Given the description of an element on the screen output the (x, y) to click on. 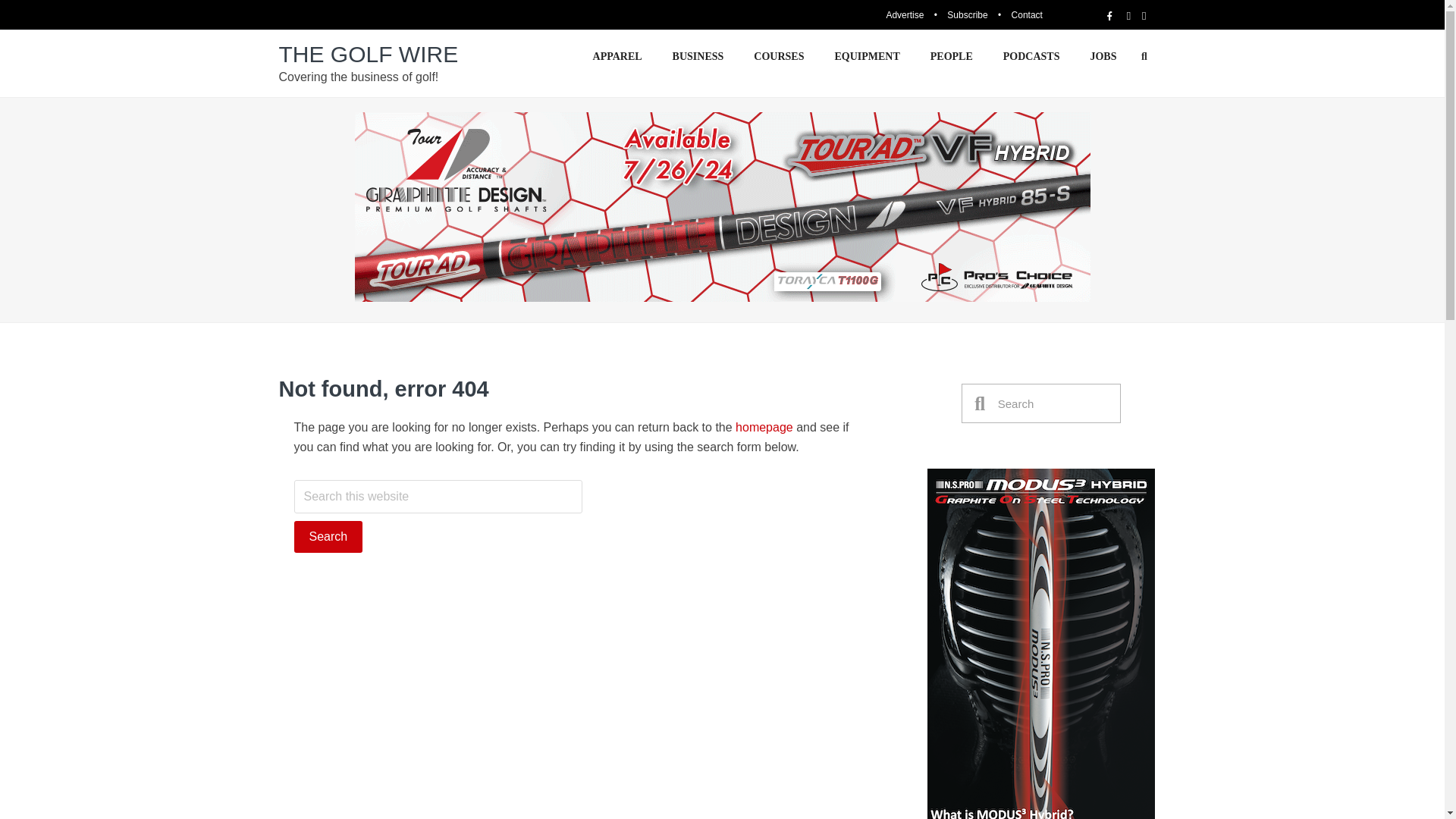
Subscribe (967, 14)
Contact (1026, 14)
JOBS (1102, 56)
PODCASTS (1031, 56)
THE GOLF WIRE (368, 53)
Search (328, 536)
homepage (764, 427)
Advertise (904, 14)
Search (328, 536)
BUSINESS (698, 56)
EQUIPMENT (866, 56)
PEOPLE (951, 56)
APPAREL (618, 56)
COURSES (778, 56)
Search (1052, 403)
